Given the description of an element on the screen output the (x, y) to click on. 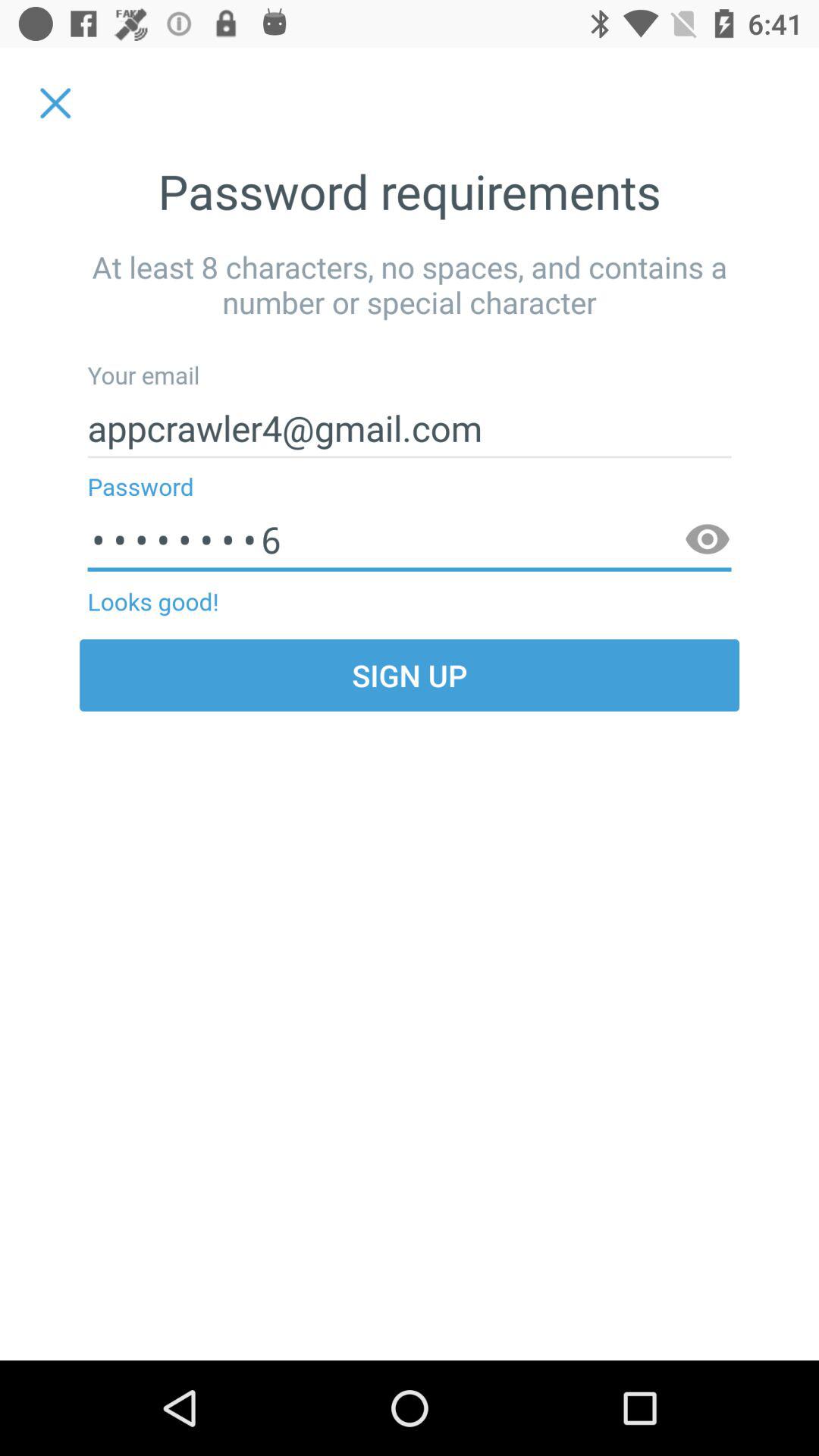
tap the item above the looks good! item (409, 540)
